Given the description of an element on the screen output the (x, y) to click on. 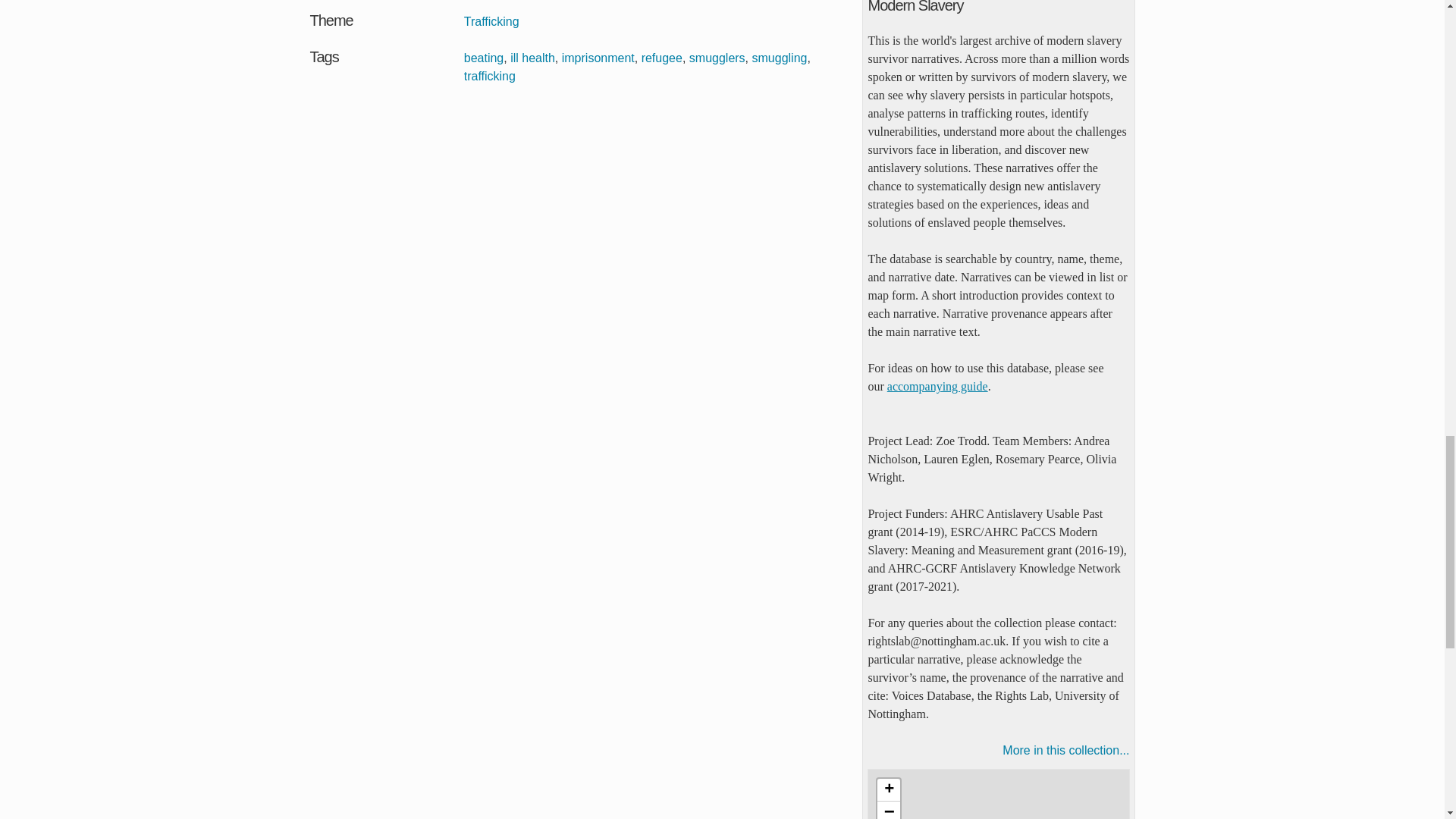
smugglers (716, 57)
Zoom out (888, 810)
Trafficking (491, 21)
beating (483, 57)
Zoom in (888, 789)
More in this collection... (998, 751)
trafficking (489, 75)
smuggling (780, 57)
imprisonment (598, 57)
refugee (662, 57)
ill health (532, 57)
accompanying guide (937, 386)
